Given the description of an element on the screen output the (x, y) to click on. 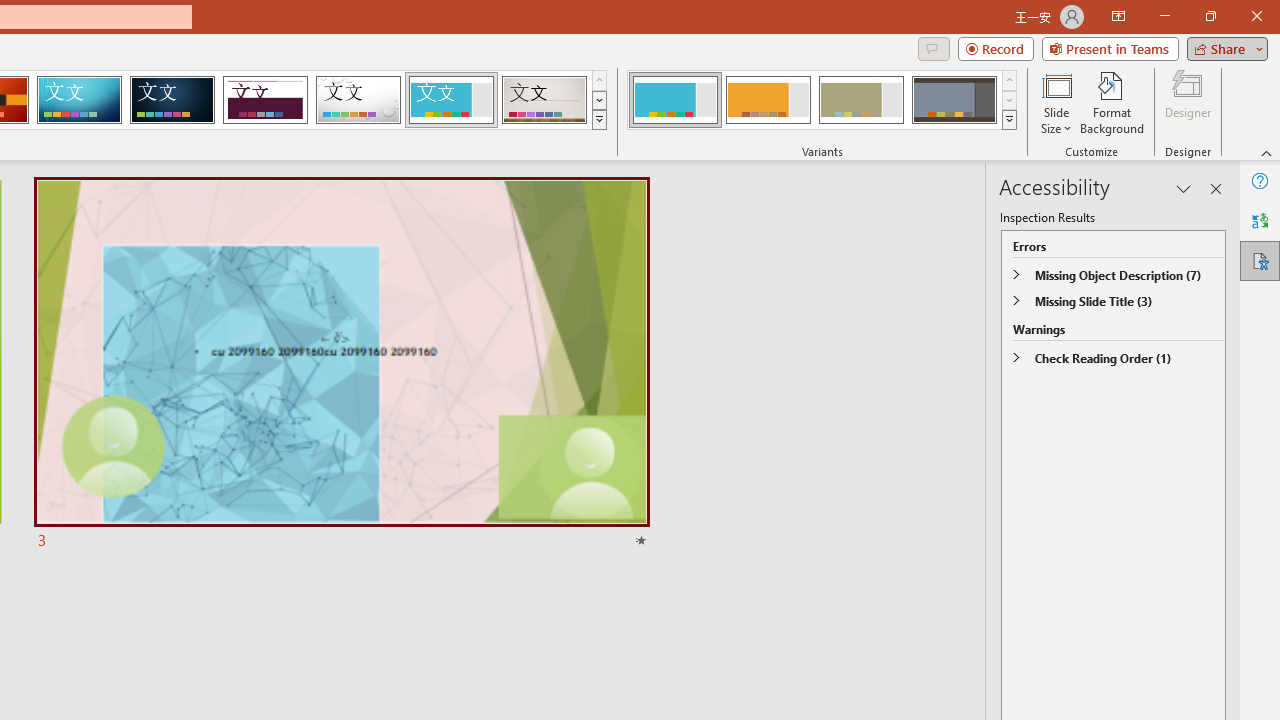
Slide Size (1056, 102)
Circuit (79, 100)
